Given the description of an element on the screen output the (x, y) to click on. 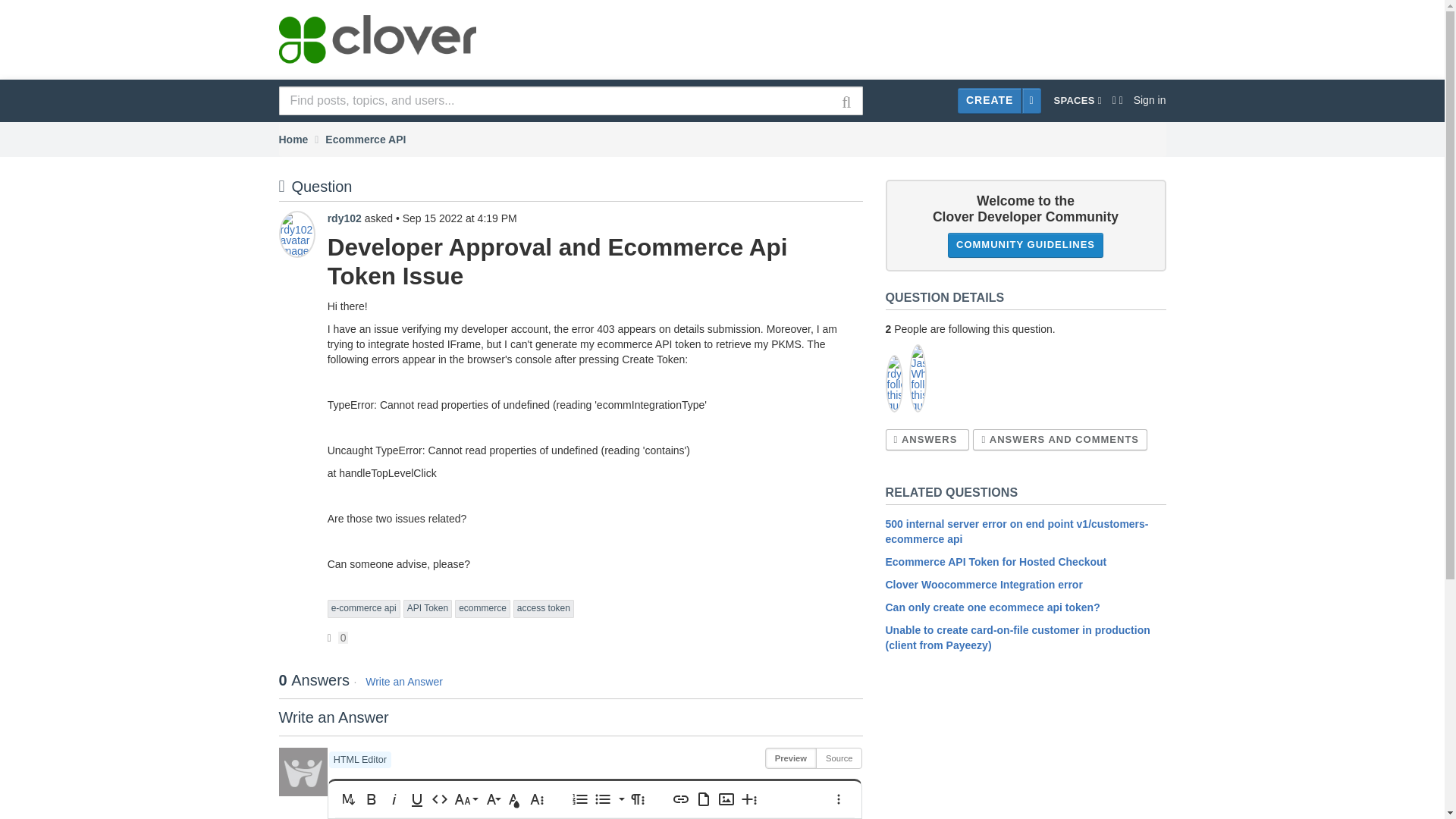
Font Size (465, 798)
Sign in (1147, 100)
SPACES (1077, 100)
rdy102 avatar image (297, 233)
Sep 15, 2022, 8:19:19 AM (459, 218)
Markdown (348, 798)
Code (439, 798)
Search (846, 102)
CREATE (990, 100)
